Given the description of an element on the screen output the (x, y) to click on. 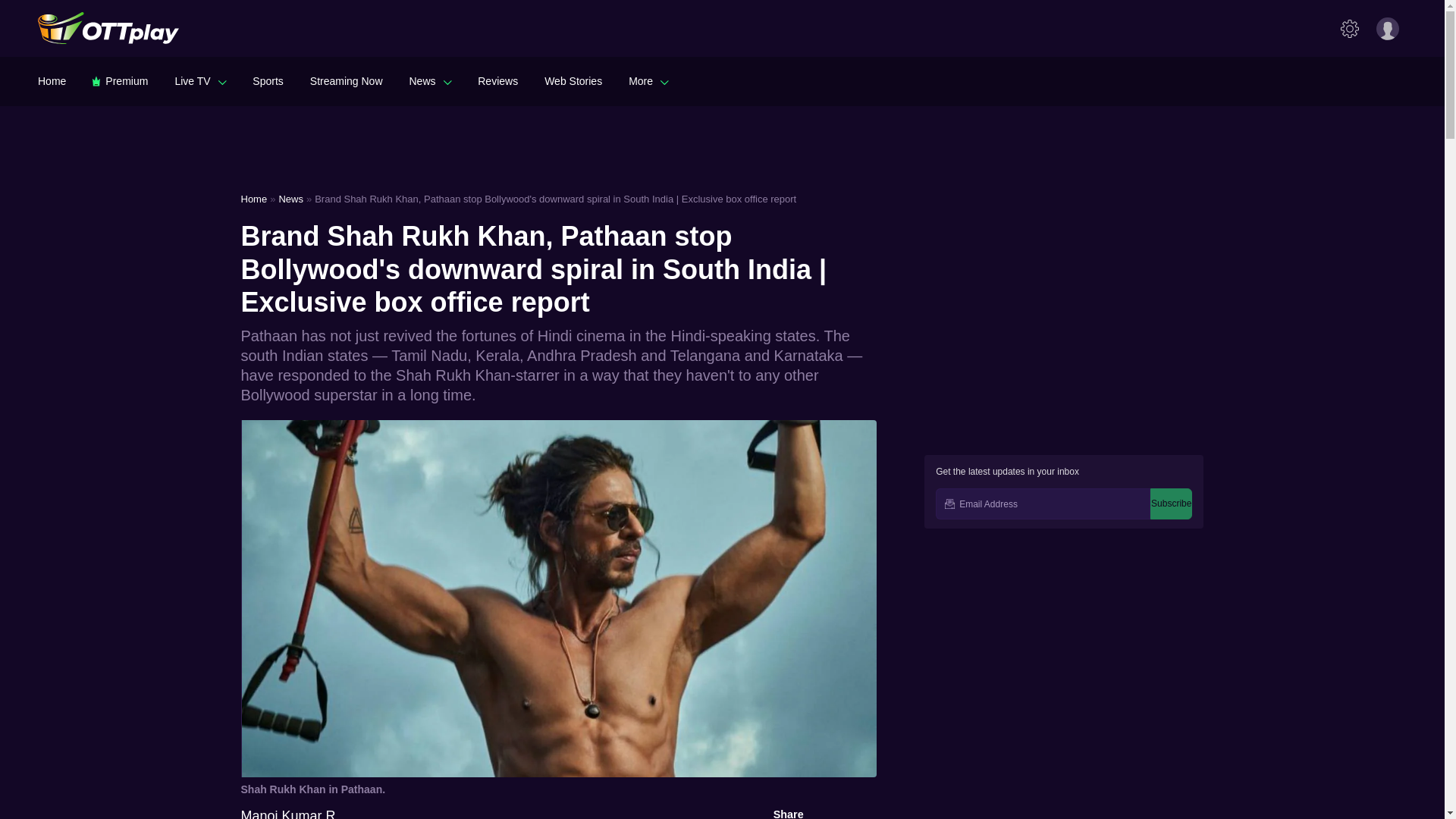
Web Stories (573, 80)
Streaming Now (346, 80)
Premium (120, 80)
Live TV (199, 80)
News (430, 80)
